Given the description of an element on the screen output the (x, y) to click on. 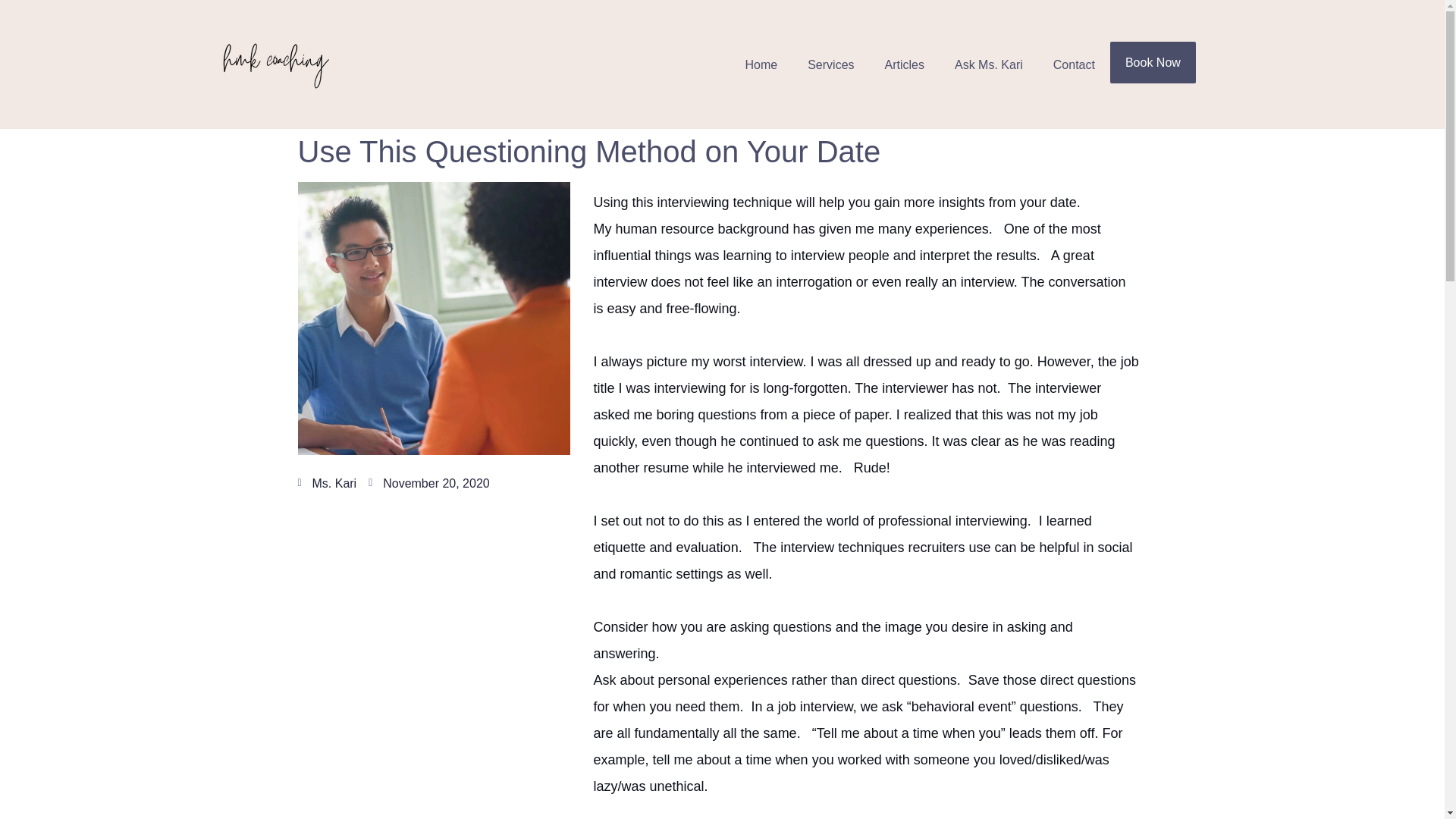
Ask Ms. Kari (988, 63)
Book Now (1152, 61)
November 20, 2020 (428, 483)
Services (830, 63)
Ms. Kari (326, 483)
Articles (904, 63)
Contact (1073, 63)
Home (760, 63)
